Given the description of an element on the screen output the (x, y) to click on. 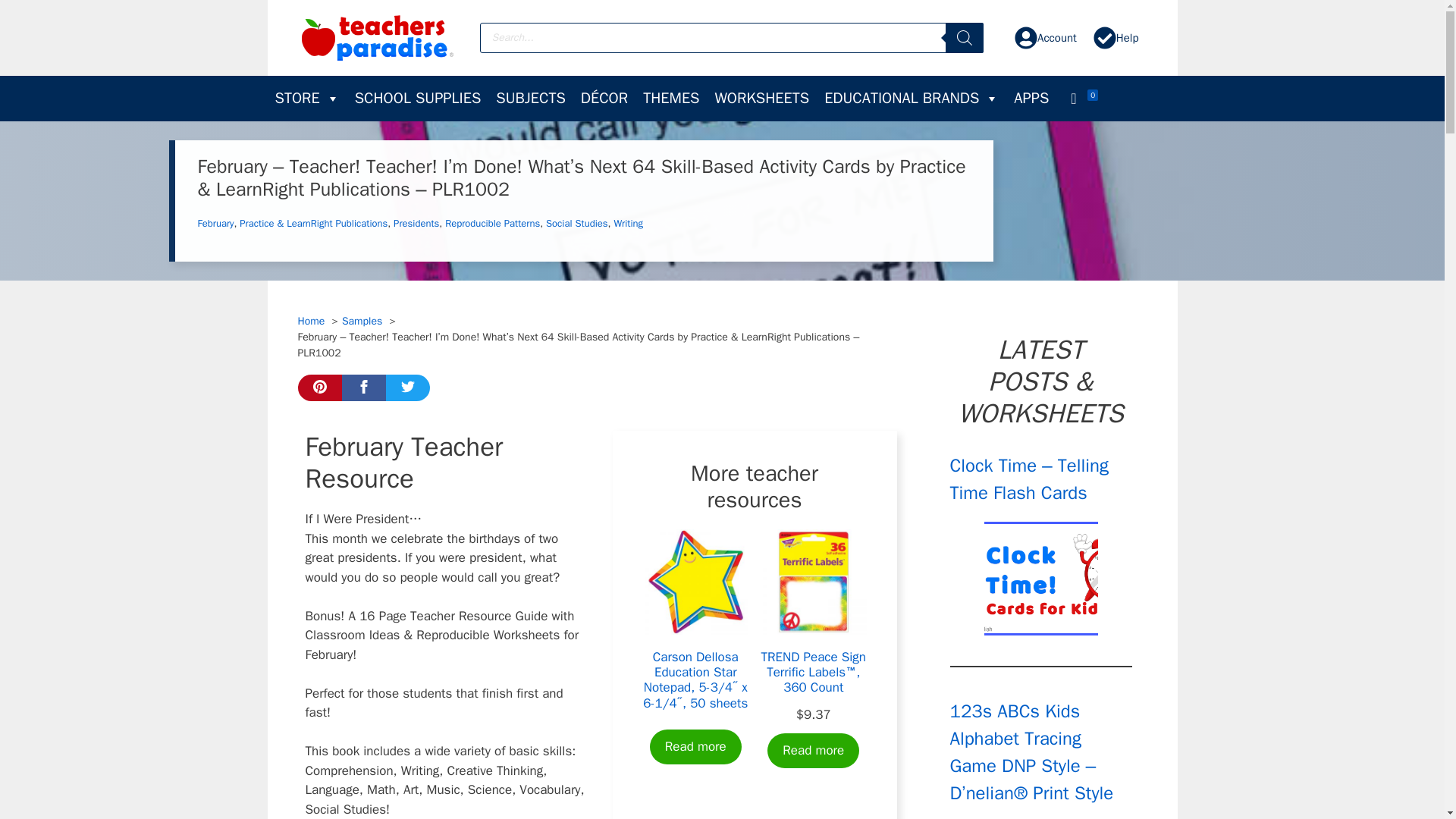
STORE (306, 98)
Account (1045, 37)
Help (1115, 37)
